Given the description of an element on the screen output the (x, y) to click on. 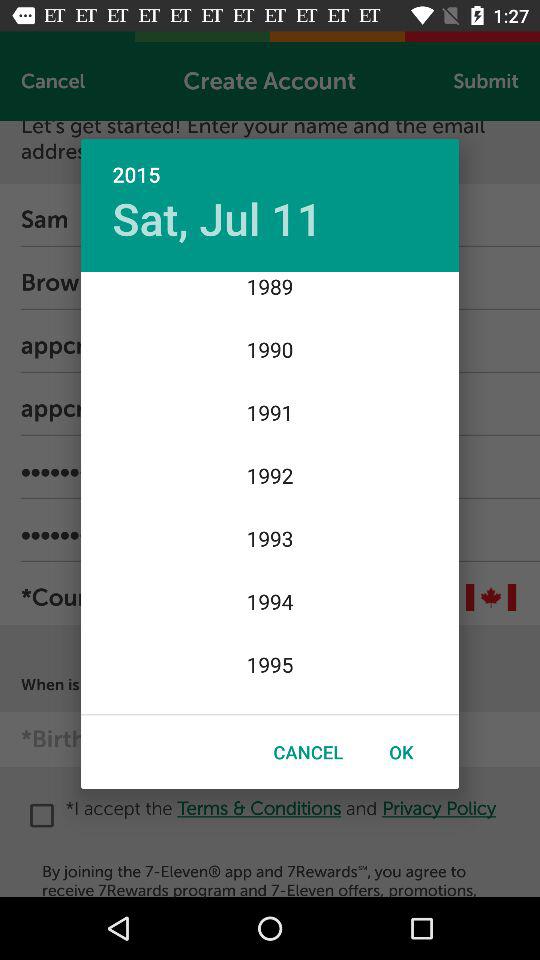
turn off item next to the cancel icon (401, 751)
